Given the description of an element on the screen output the (x, y) to click on. 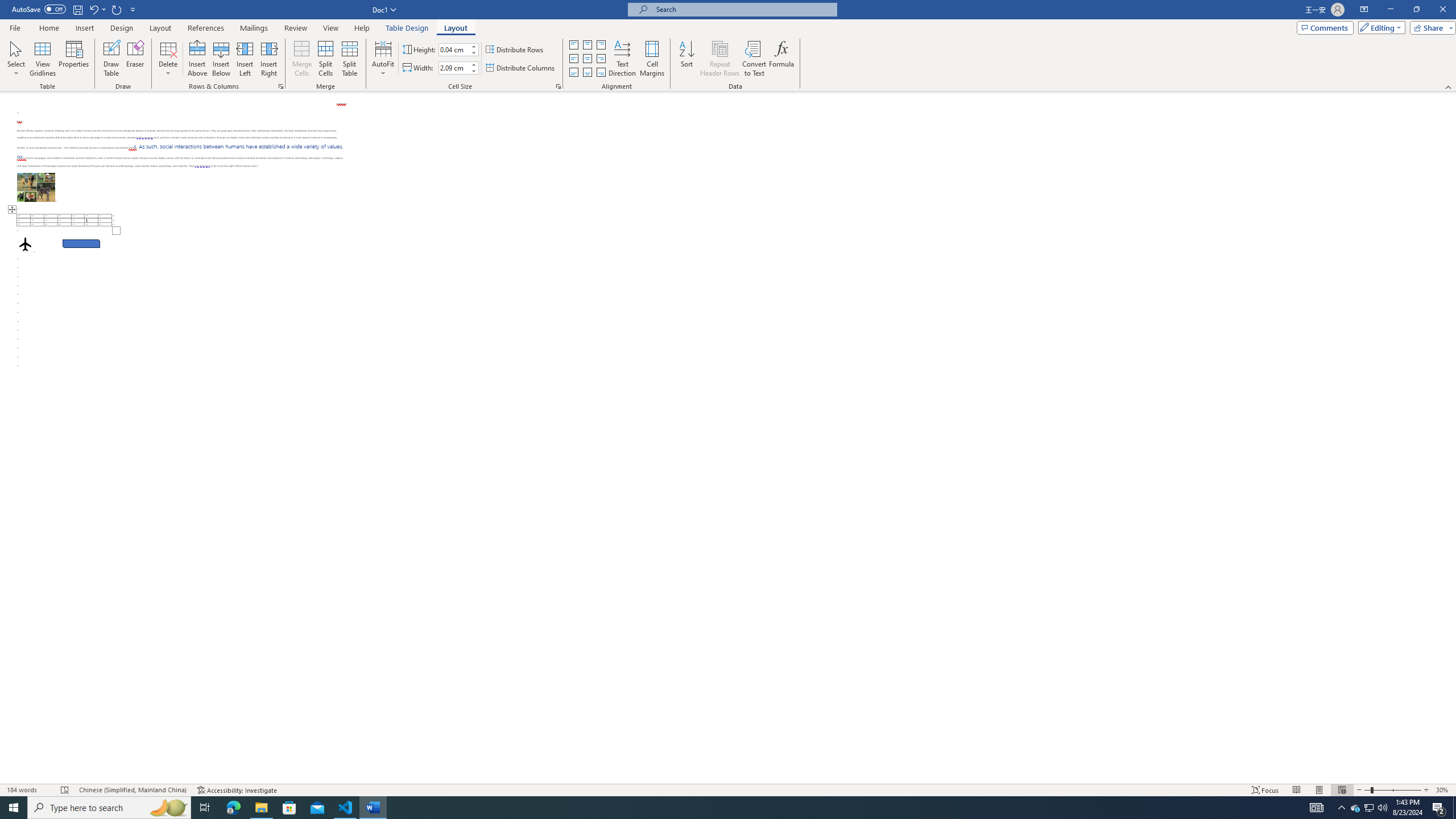
Class: MsoCommandBar (728, 45)
Zoom 30% (1443, 790)
Align Top Center (587, 44)
AutoFit (383, 58)
Align Bottom Right (601, 72)
Align Bottom Center (587, 72)
Delete (167, 58)
